Given the description of an element on the screen output the (x, y) to click on. 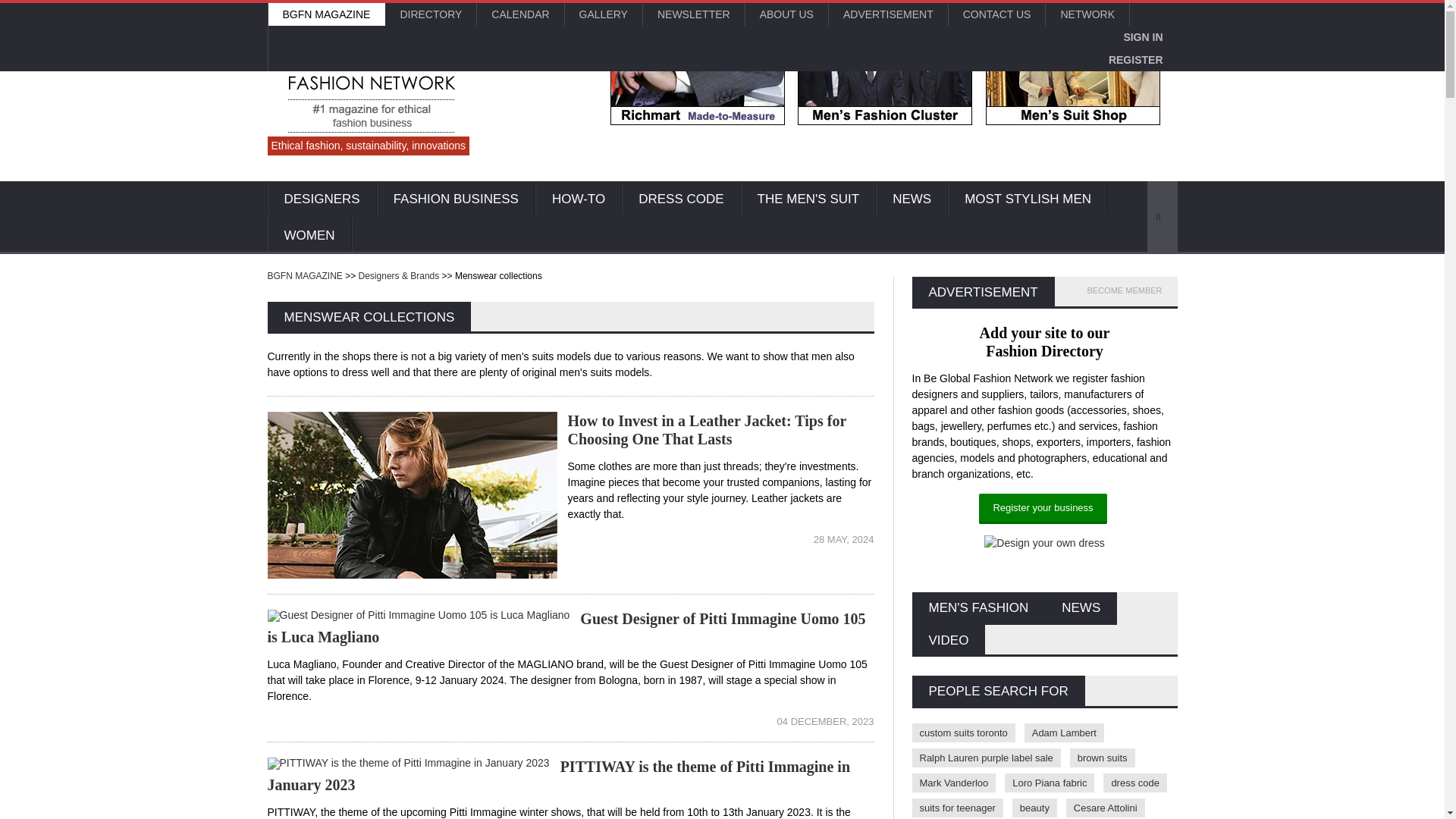
DESIGNERS (320, 198)
CALENDAR (520, 14)
NETWORK (1087, 14)
ABOUT US (786, 14)
ADVERTISEMENT (887, 14)
NEWSLETTER (693, 14)
BGFN MAGAZINE (326, 14)
DIRECTORY (430, 14)
REGISTER (1135, 59)
FASHION BUSINESS (456, 198)
